Given the description of an element on the screen output the (x, y) to click on. 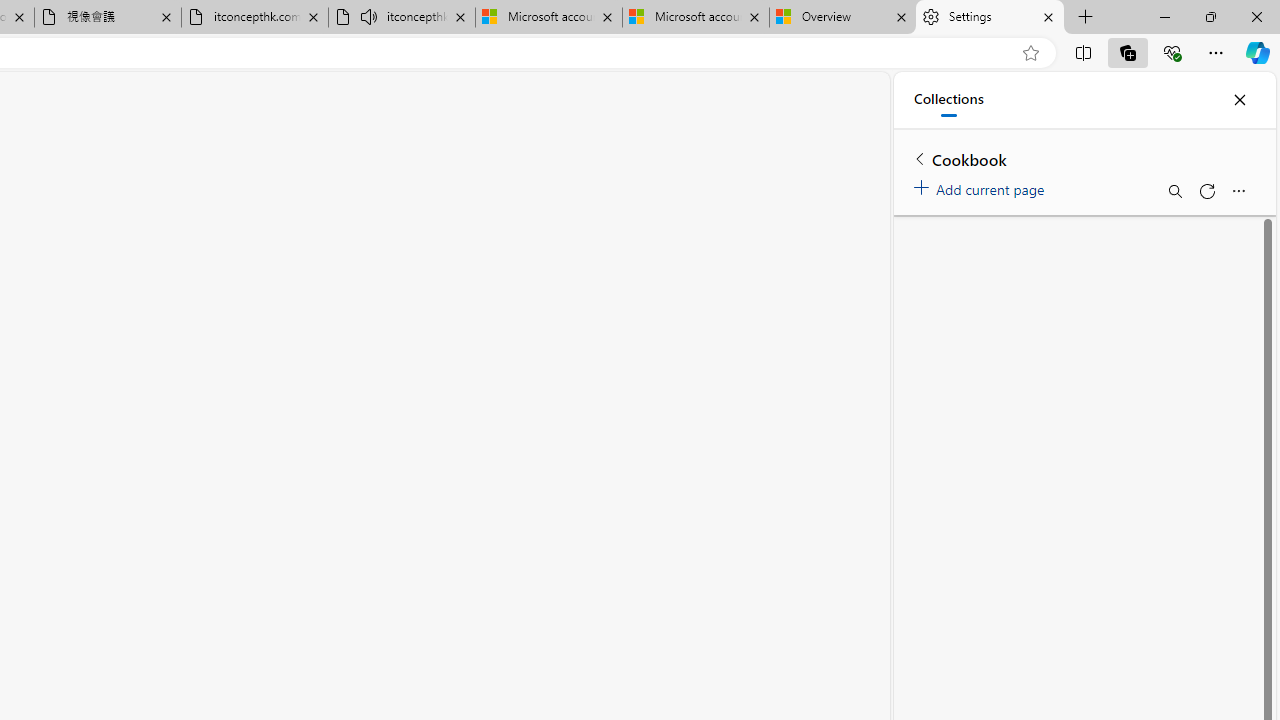
Back to list of collections (920, 158)
